Given the description of an element on the screen output the (x, y) to click on. 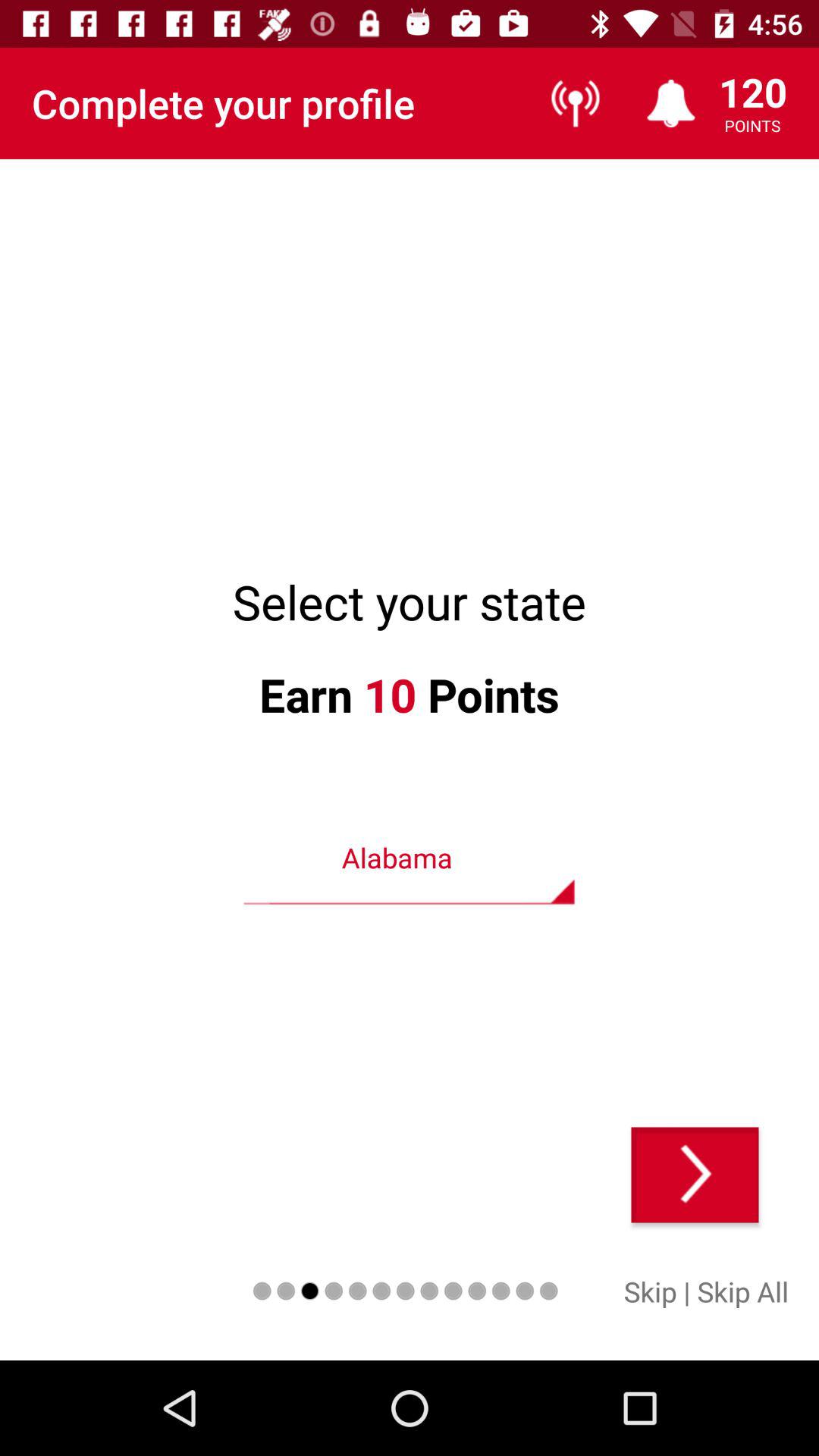
skip this screen (694, 1174)
